Given the description of an element on the screen output the (x, y) to click on. 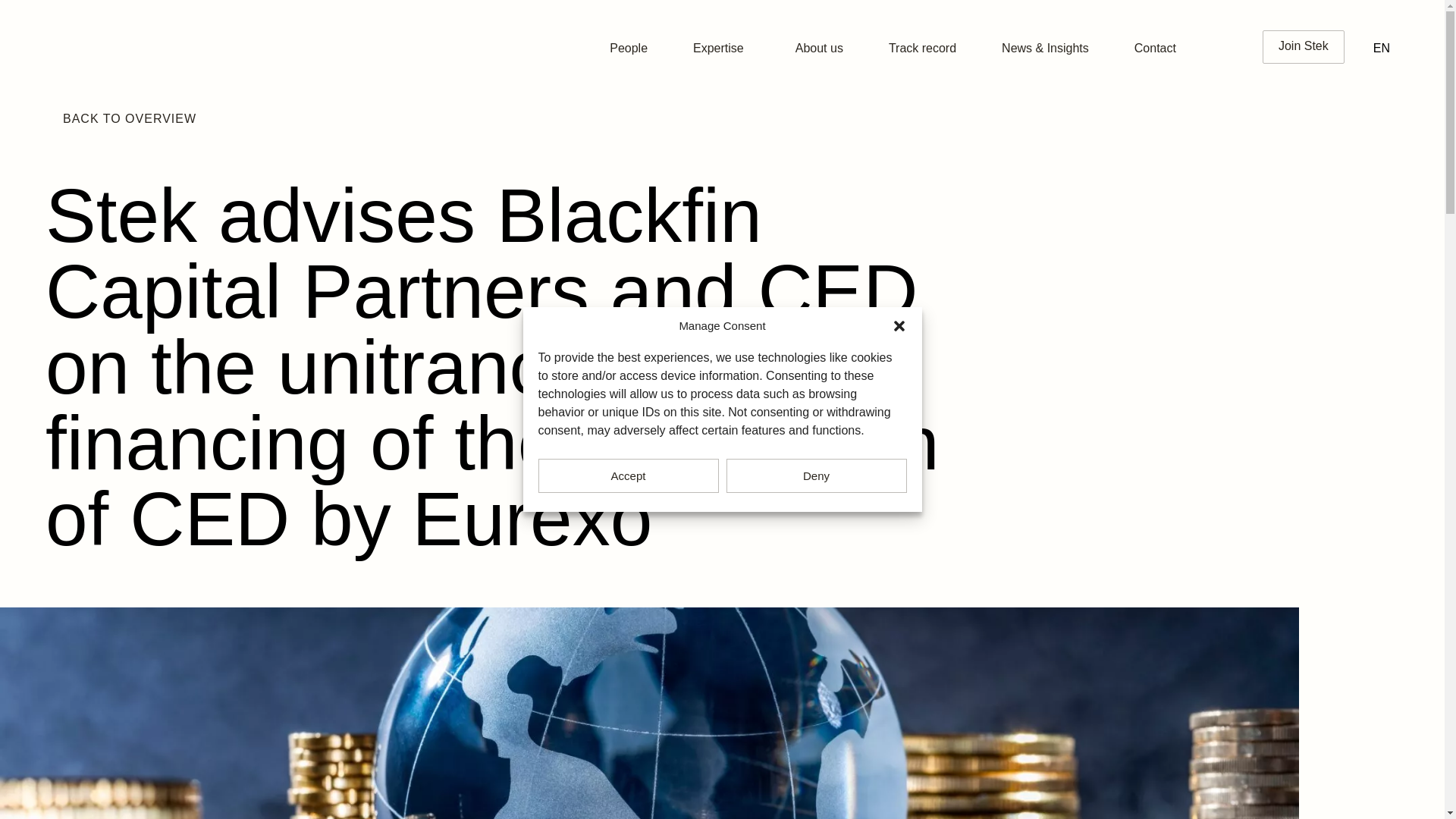
Deny (816, 475)
Contact (1155, 48)
Track record (922, 48)
About us (819, 48)
Join Stek (1302, 46)
People (627, 48)
Accept (628, 475)
